Given the description of an element on the screen output the (x, y) to click on. 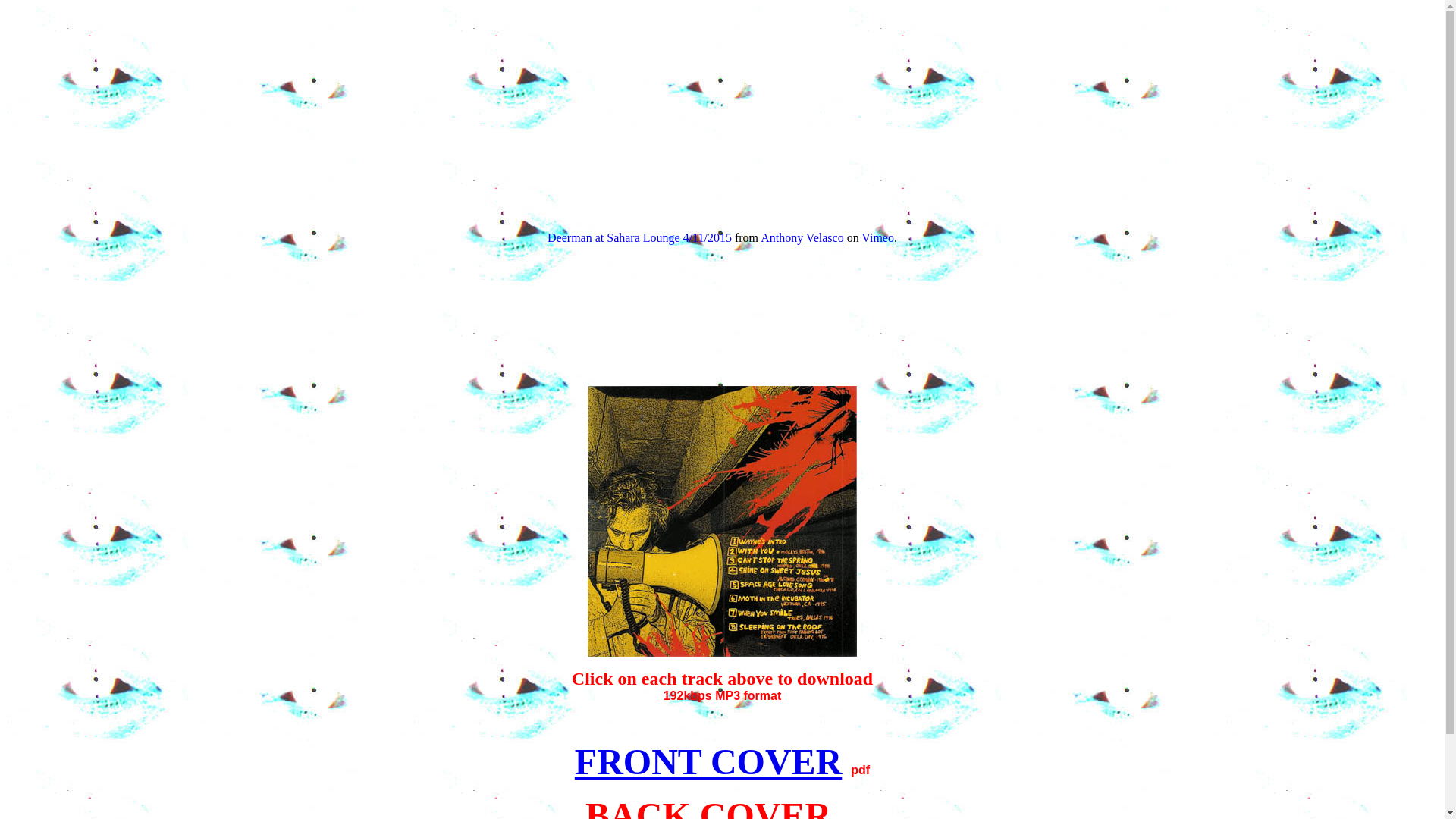
Vimeo Element type: text (877, 237)
FRONT COVER Element type: text (707, 761)
Anthony Velasco Element type: text (801, 237)
Deerman at Sahara Lounge 4/11/2015 Element type: text (639, 237)
